Given the description of an element on the screen output the (x, y) to click on. 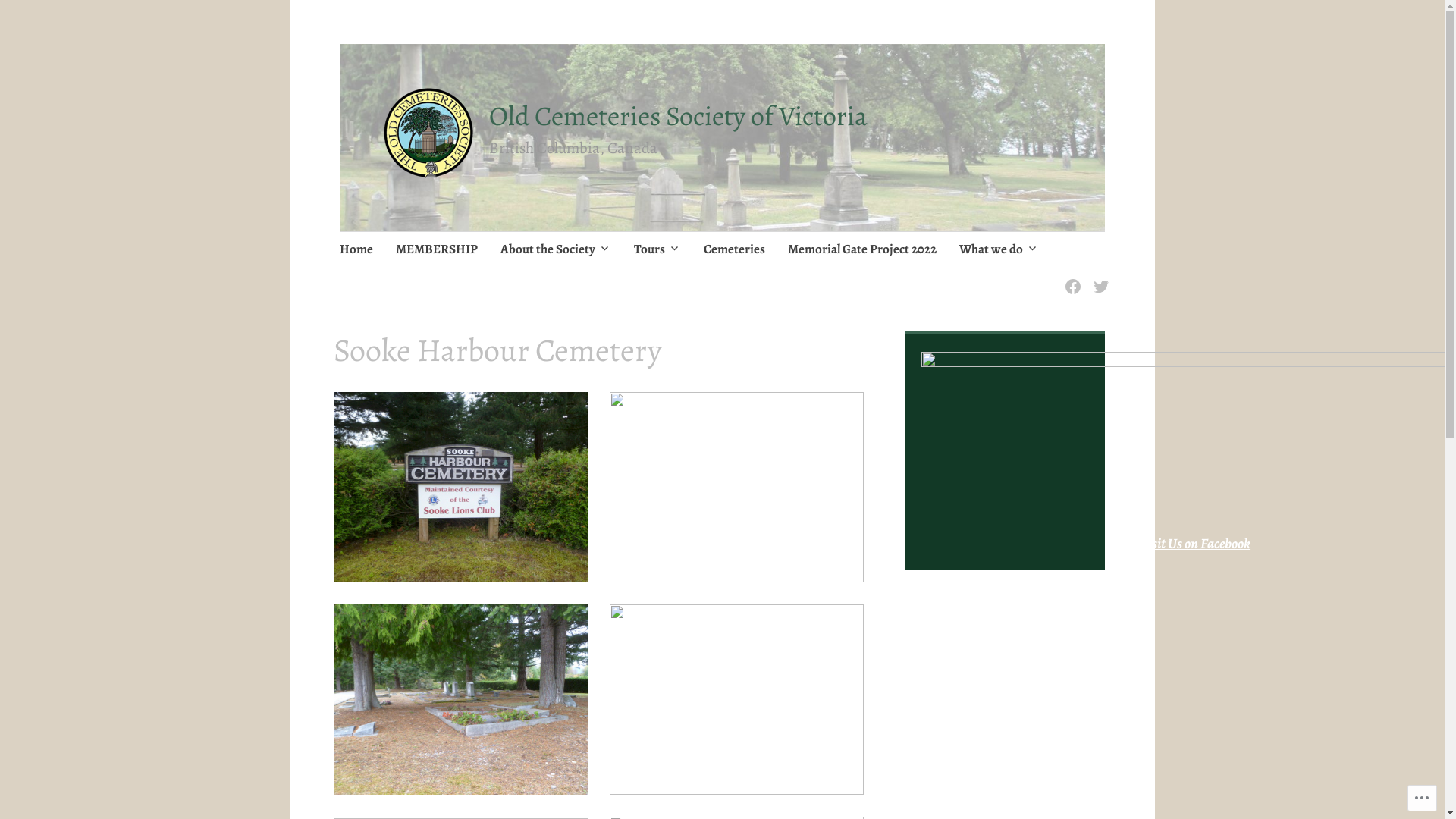
Search Element type: text (173, 17)
What we do Element type: text (998, 249)
Cemeteries Element type: text (734, 249)
Old Cemeteries Society of Victoria Element type: text (678, 115)
Tours Element type: text (656, 249)
About the Society Element type: text (555, 249)
Home Element type: text (356, 249)
MEMBERSHIP Element type: text (436, 249)
Visit Us on Facebook Element type: text (1195, 543)
Memorial Gate Project 2022 Element type: text (861, 249)
